Given the description of an element on the screen output the (x, y) to click on. 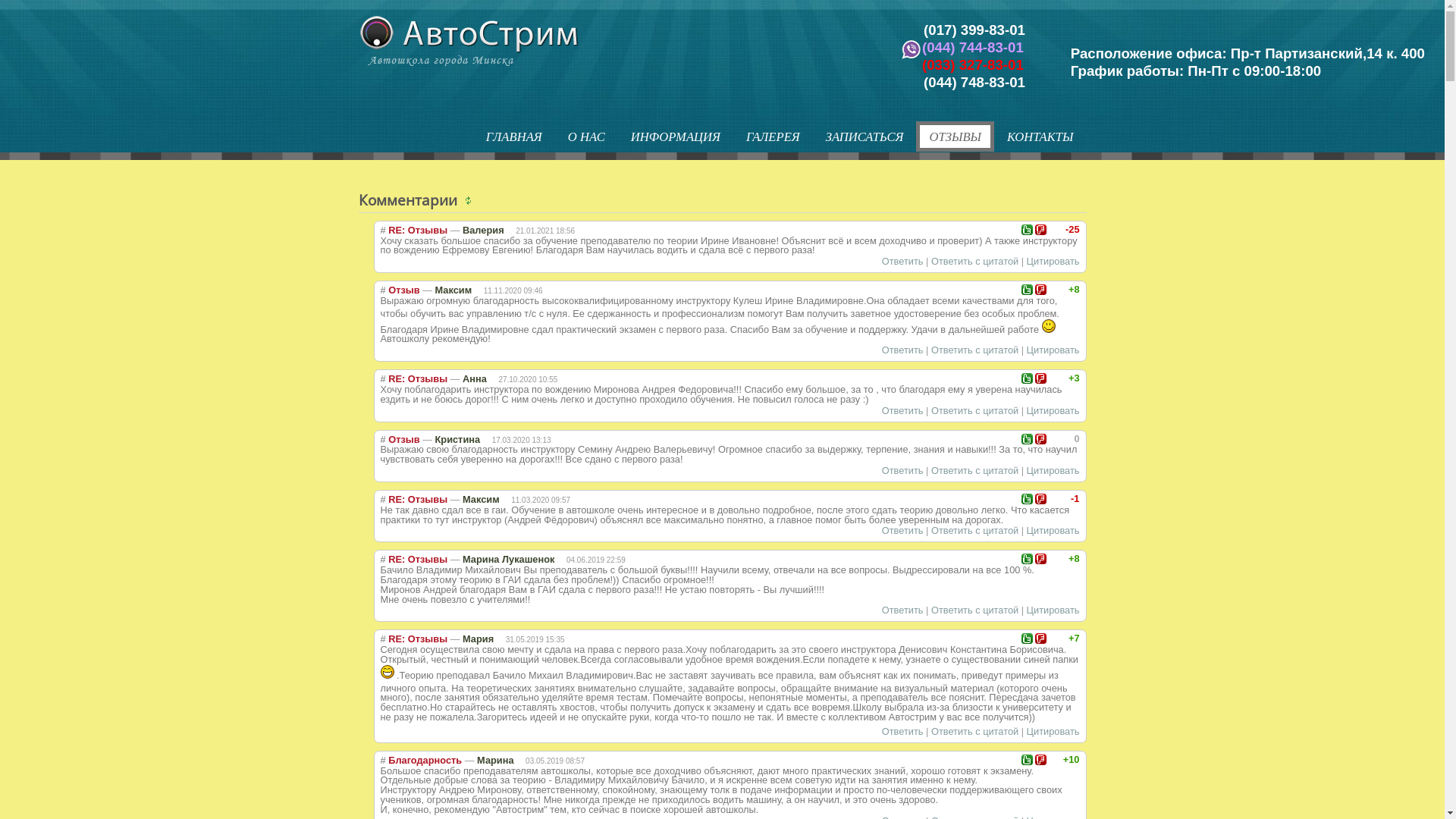
# Element type: text (382, 759)
# Element type: text (382, 638)
# Element type: text (382, 558)
# Element type: text (382, 289)
# Element type: text (382, 229)
(044) 744-83-01 Element type: text (972, 47)
  Element type: text (469, 200)
# Element type: text (382, 439)
# Element type: text (382, 378)
# Element type: text (382, 499)
